Given the description of an element on the screen output the (x, y) to click on. 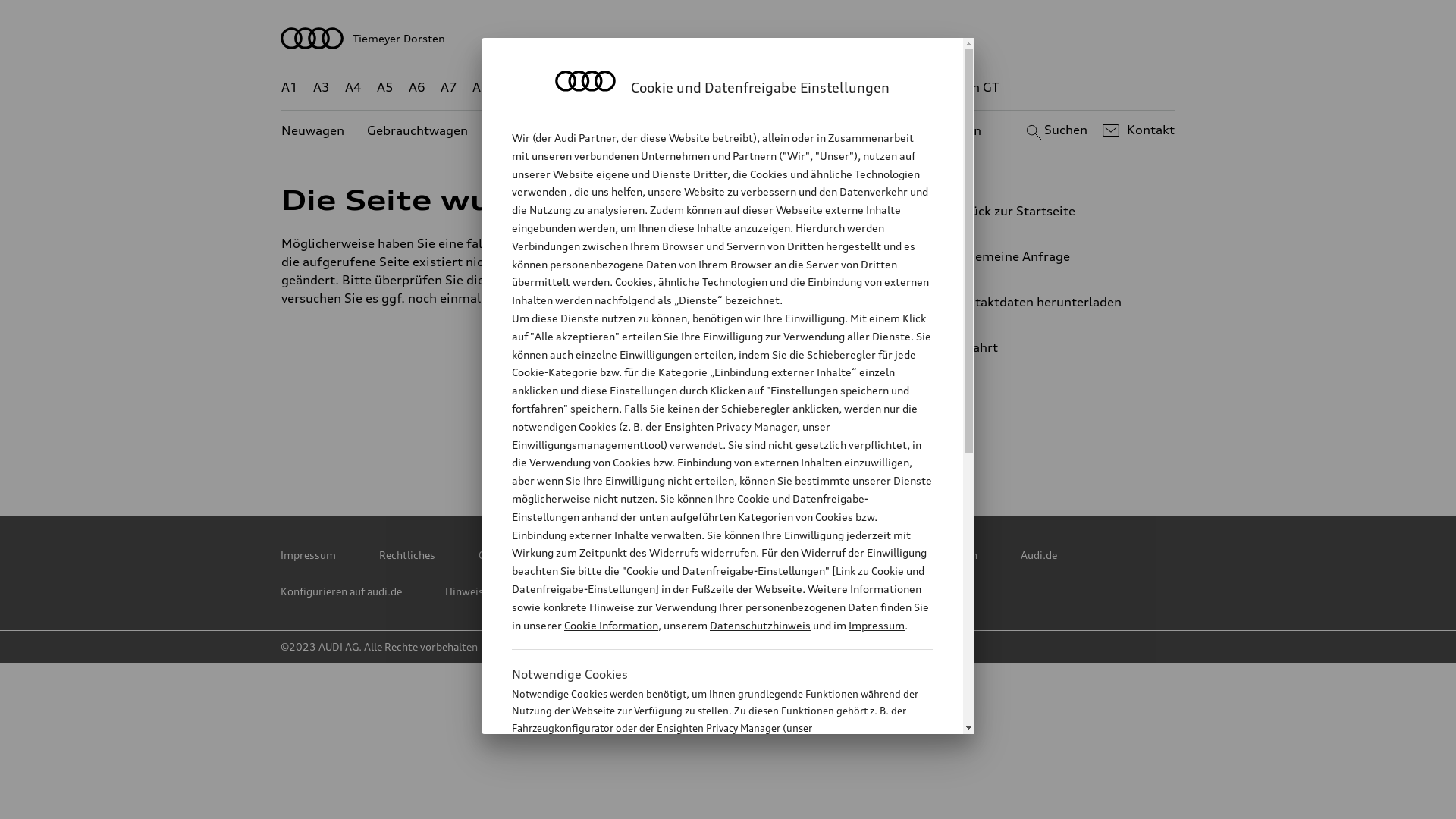
A8 Element type: text (480, 87)
A6 Element type: text (416, 87)
Q5 Element type: text (650, 87)
RS Element type: text (866, 87)
Rechtliches Element type: text (407, 554)
Q8 Element type: text (715, 87)
Cookie Information Element type: text (611, 624)
g-tron Element type: text (908, 87)
Anfahrt Element type: text (1049, 347)
Q8 e-tron Element type: text (768, 87)
A4 Element type: text (353, 87)
Impressum Element type: text (876, 624)
Audi Partner Element type: text (584, 137)
Facebook Element type: hover (730, 444)
Q7 Element type: text (683, 87)
Gebrauchtwagen Element type: text (417, 130)
Allgemeine Anfrage Element type: text (1043, 256)
Audi.de Element type: text (1038, 554)
YouTube Element type: hover (796, 444)
Copyright & Haftungsausschluss Element type: text (557, 554)
A5 Element type: text (384, 87)
Suchen Element type: text (1054, 130)
Instagram Element type: hover (663, 444)
e-tron GT Element type: text (970, 87)
Angebote Element type: text (641, 130)
Q2 Element type: text (512, 87)
Cookie Policy Element type: text (711, 554)
A7 Element type: text (448, 87)
Kontakt Element type: text (1135, 130)
Hinweisgebersystem Element type: text (495, 591)
Neuwagen Element type: text (312, 130)
TT Element type: text (820, 87)
Q4 e-tron Element type: text (598, 87)
Tiemeyer Dorsten Element type: text (727, 38)
Cookie Information Element type: text (705, 802)
Cookie und Datenfreigabe Einstellungen Element type: text (881, 554)
A1 Element type: text (289, 87)
A3 Element type: text (321, 87)
Impressum Element type: text (307, 554)
Kontaktdaten herunterladen Element type: text (1043, 301)
Konfigurieren auf audi.de Element type: text (340, 591)
Datenschutzhinweis Element type: text (759, 624)
Kundenservice Element type: text (736, 130)
Q3 Element type: text (545, 87)
